Given the description of an element on the screen output the (x, y) to click on. 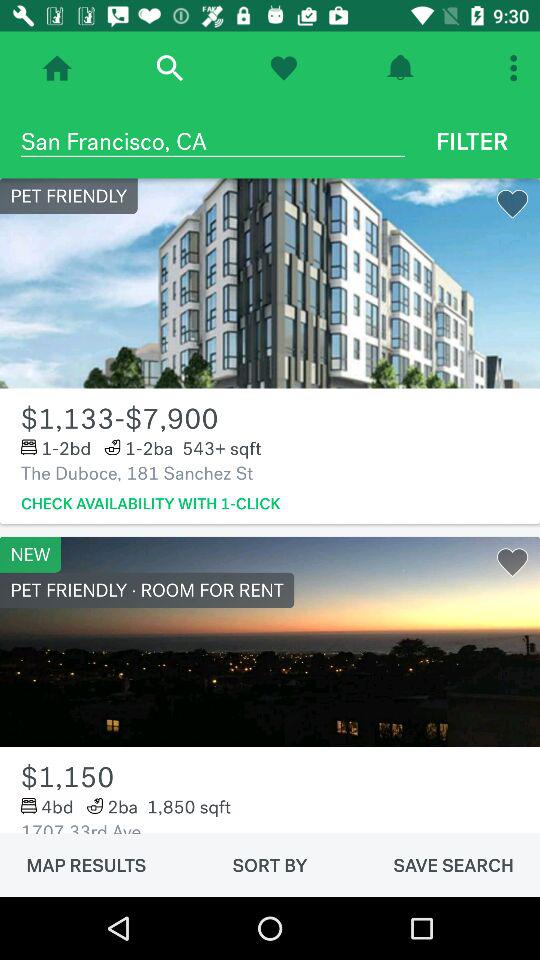
tap on it if you love the place (283, 68)
